Given the description of an element on the screen output the (x, y) to click on. 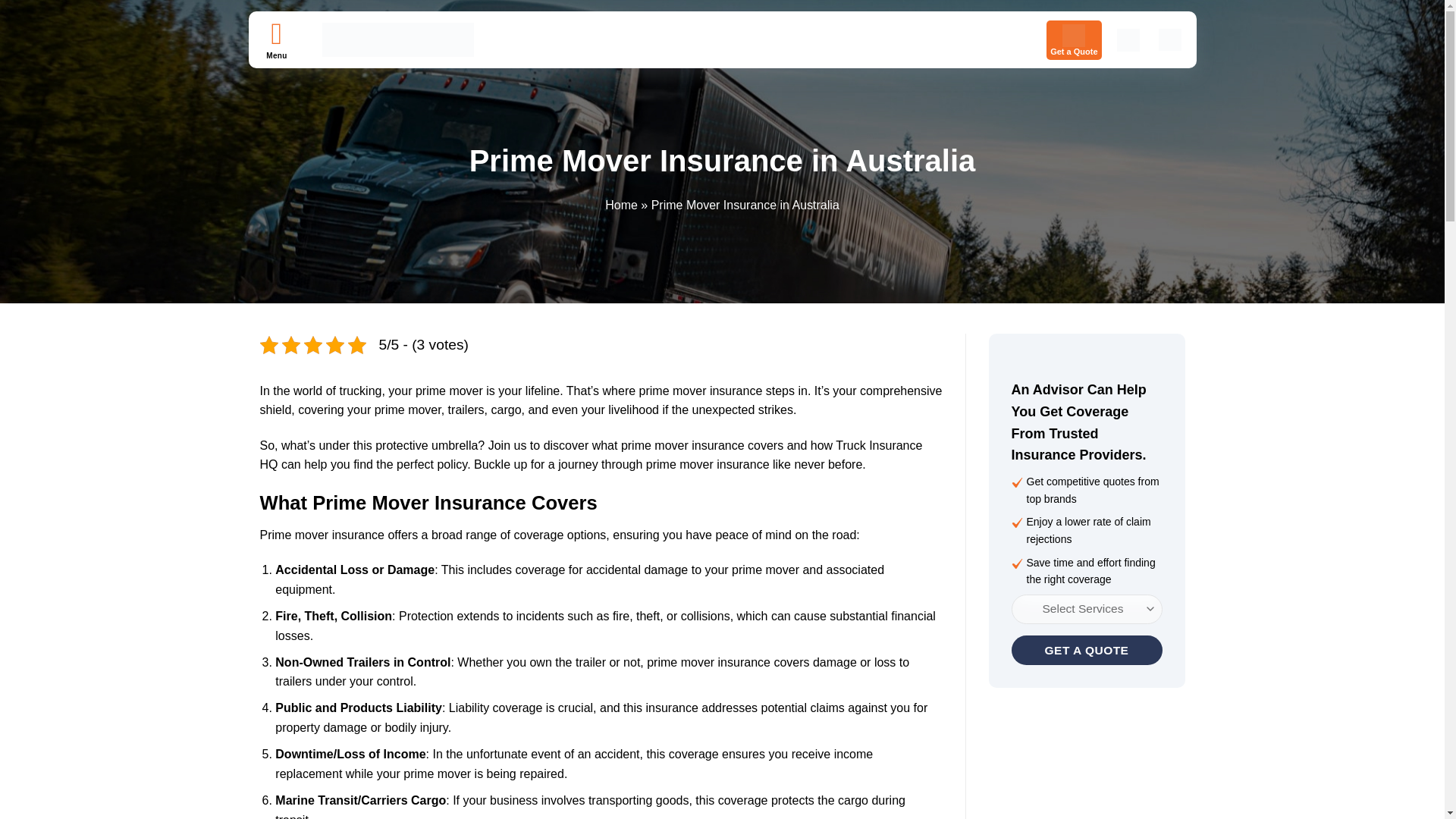
Menu (276, 32)
Get a Quote (1086, 650)
Truck Insurance HQ (397, 39)
